Given the description of an element on the screen output the (x, y) to click on. 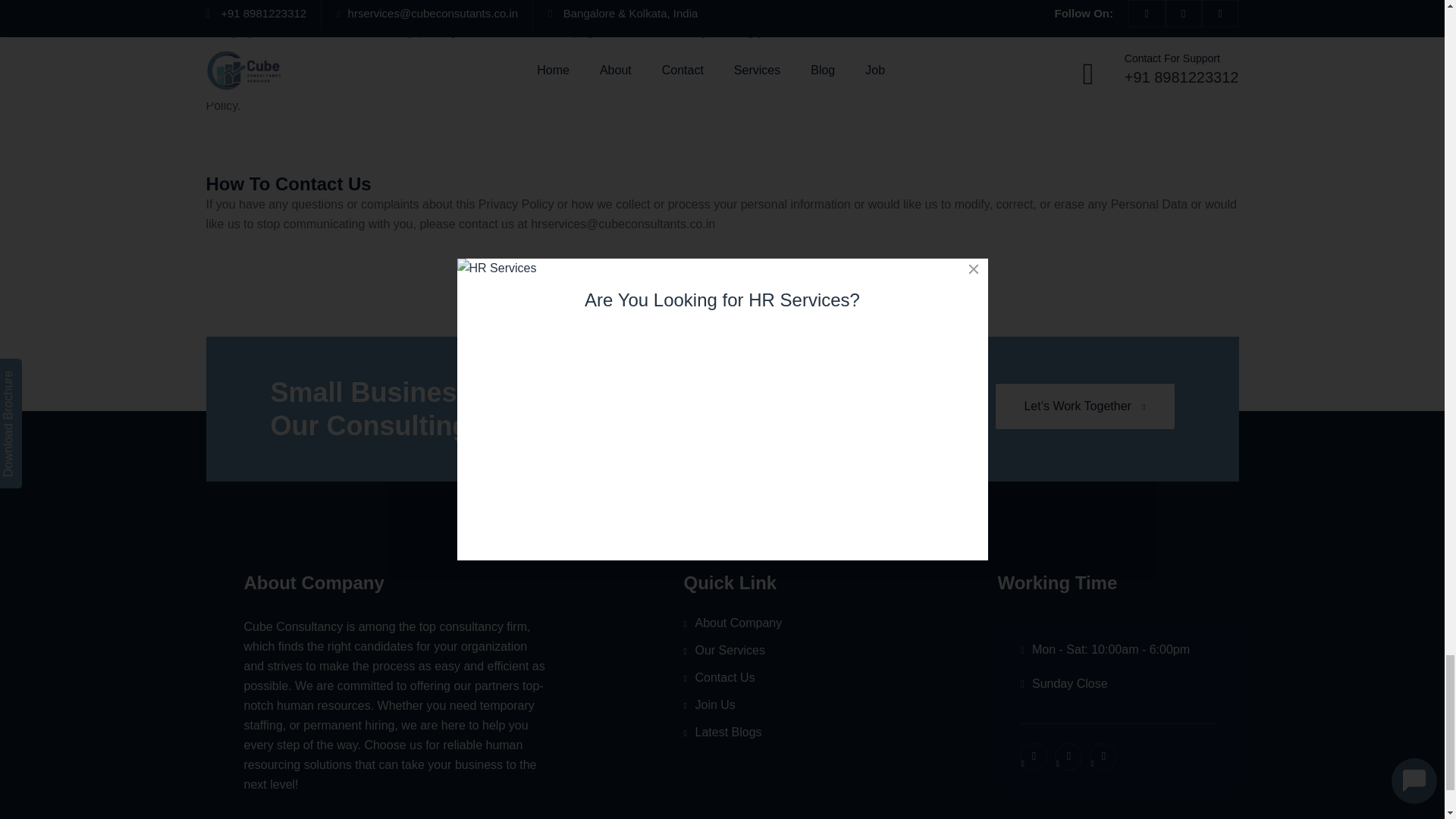
About Company (790, 623)
Our Services (790, 650)
Contact Us (790, 677)
Latest Blogs (790, 732)
Join Us (790, 705)
